Given the description of an element on the screen output the (x, y) to click on. 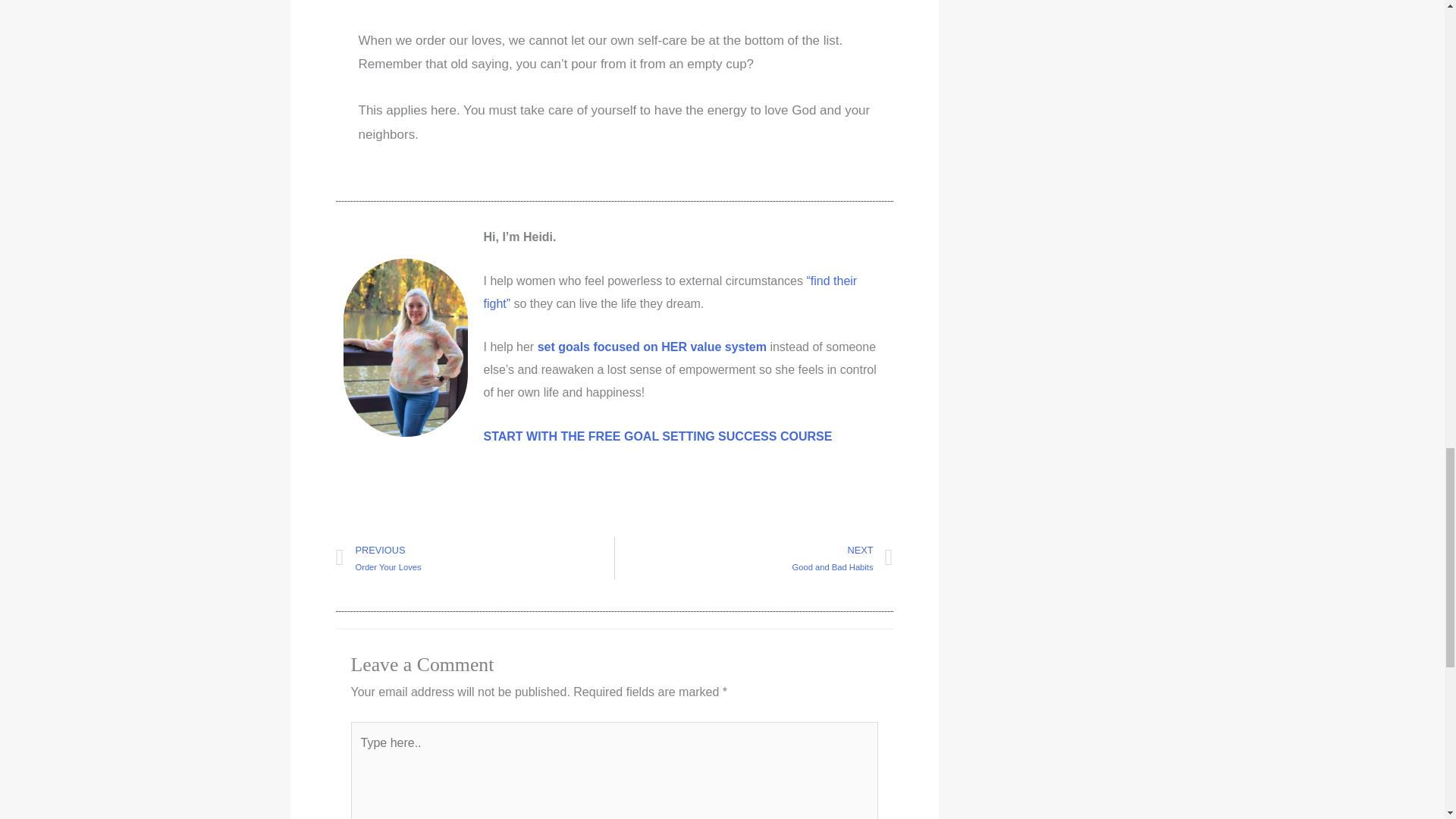
set goals focused on HER value system (652, 346)
START WITH THE FREE GOAL SETTING SUCCESS COURSE (473, 558)
